Given the description of an element on the screen output the (x, y) to click on. 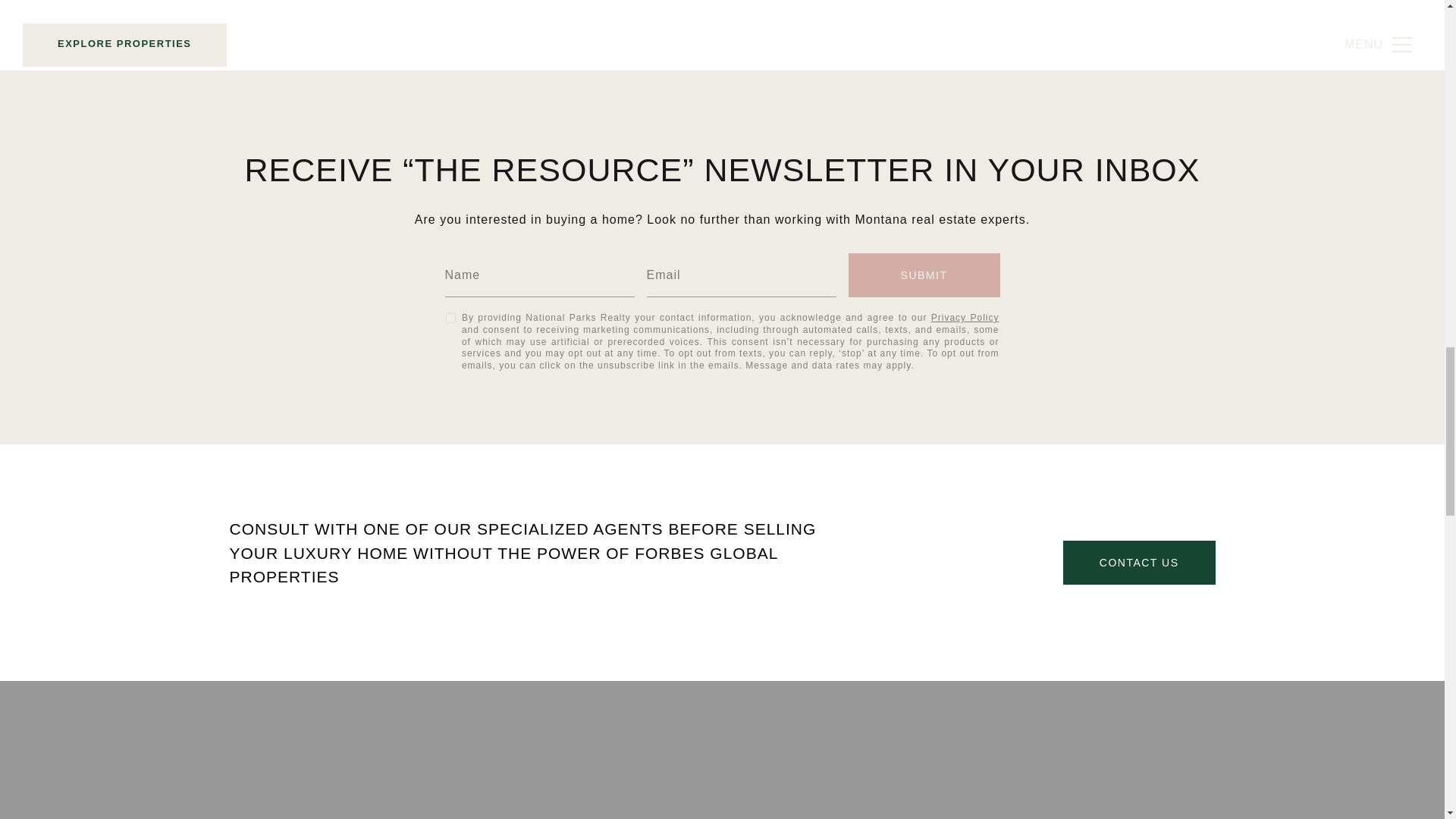
on (450, 317)
SUBMIT (922, 275)
Privacy Policy (964, 317)
CONTACT US (1138, 562)
